Given the description of an element on the screen output the (x, y) to click on. 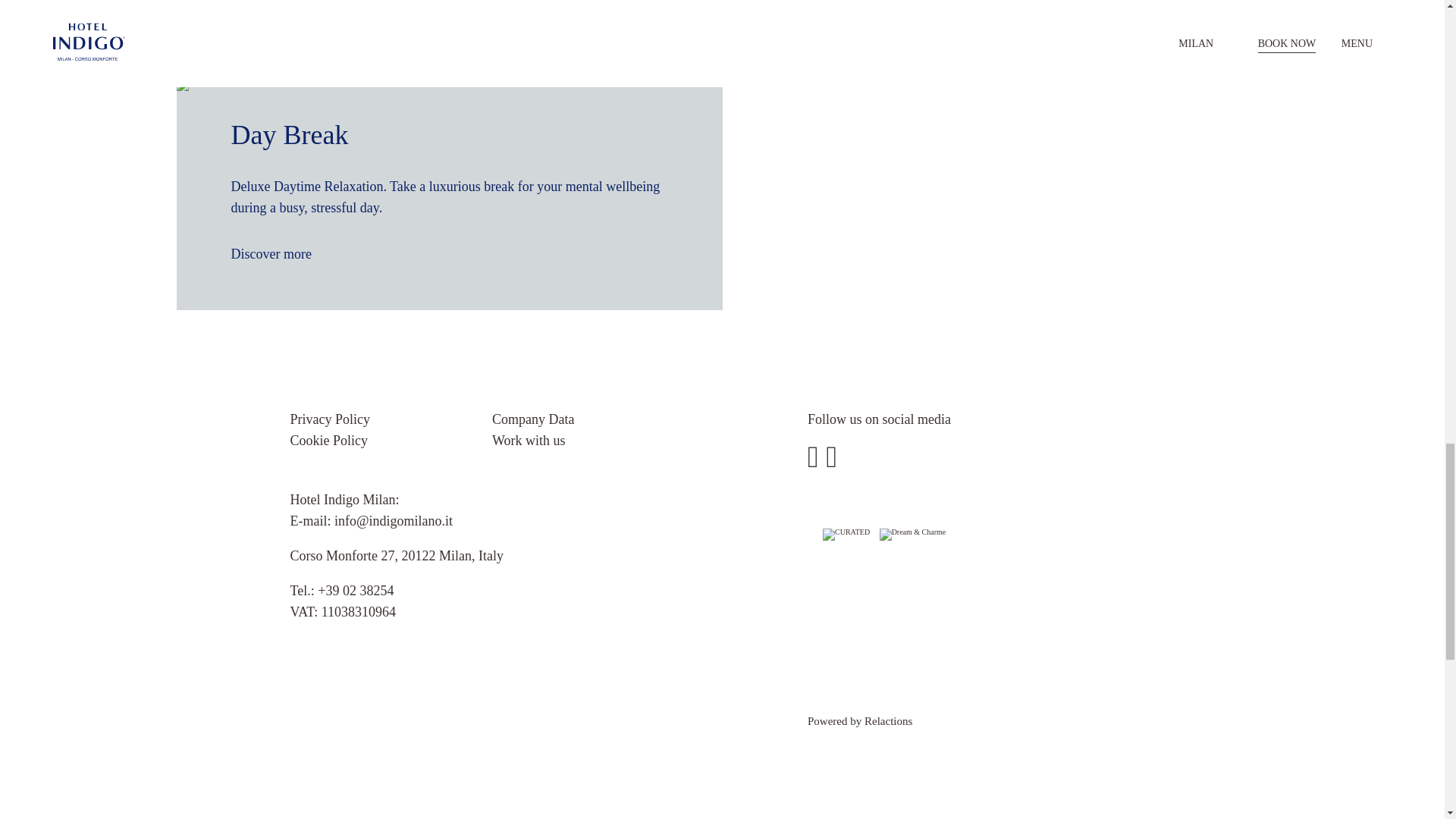
Relactions (888, 720)
Discover more (278, 6)
Discover more (278, 253)
Discover more (824, 22)
Discover more (824, 22)
Discover more (278, 6)
Cookie Policy (328, 440)
Discover more (278, 253)
Privacy Policy (329, 418)
